Given the description of an element on the screen output the (x, y) to click on. 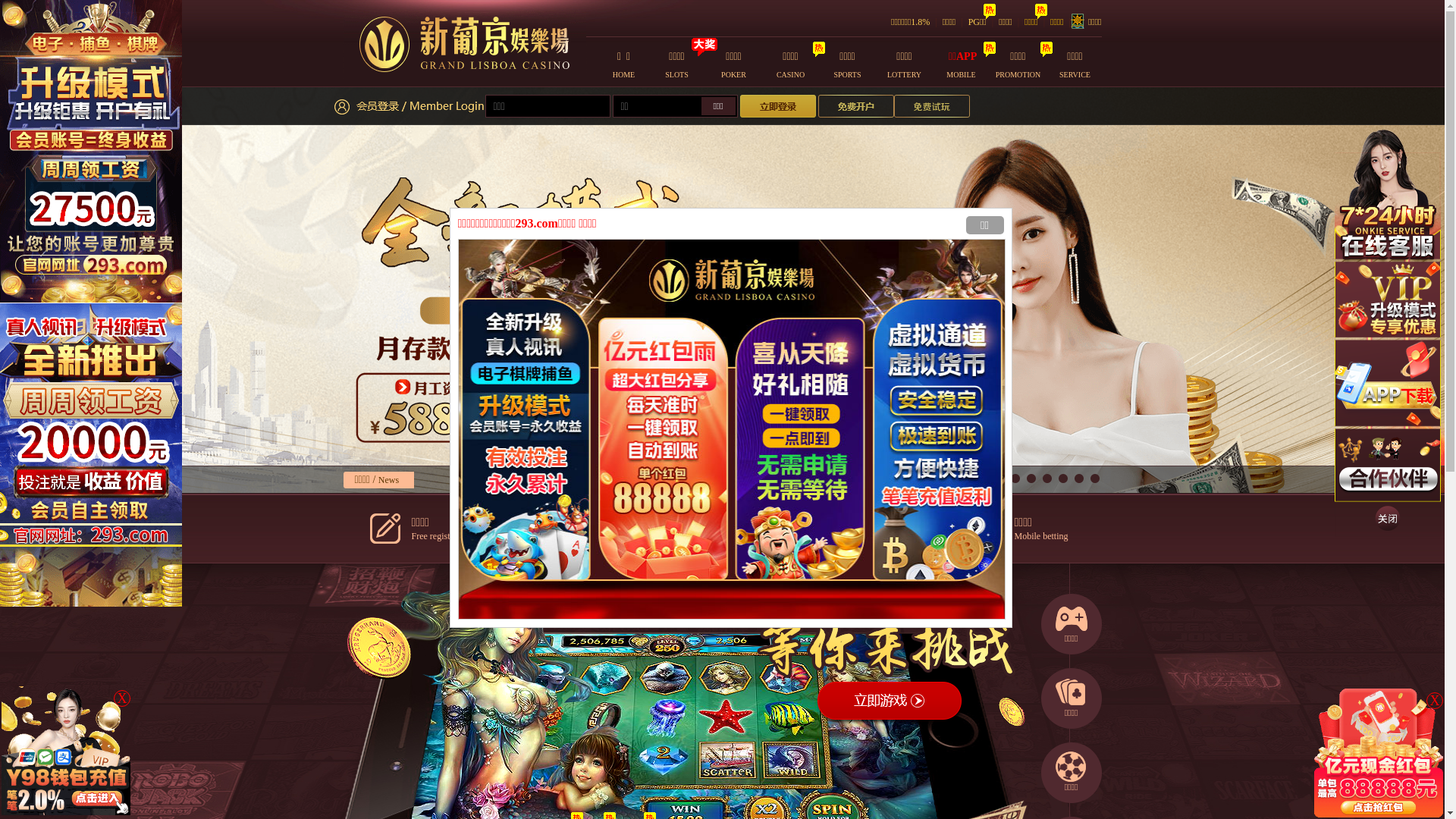
X Element type: text (121, 698)
X Element type: text (1434, 700)
